Given the description of an element on the screen output the (x, y) to click on. 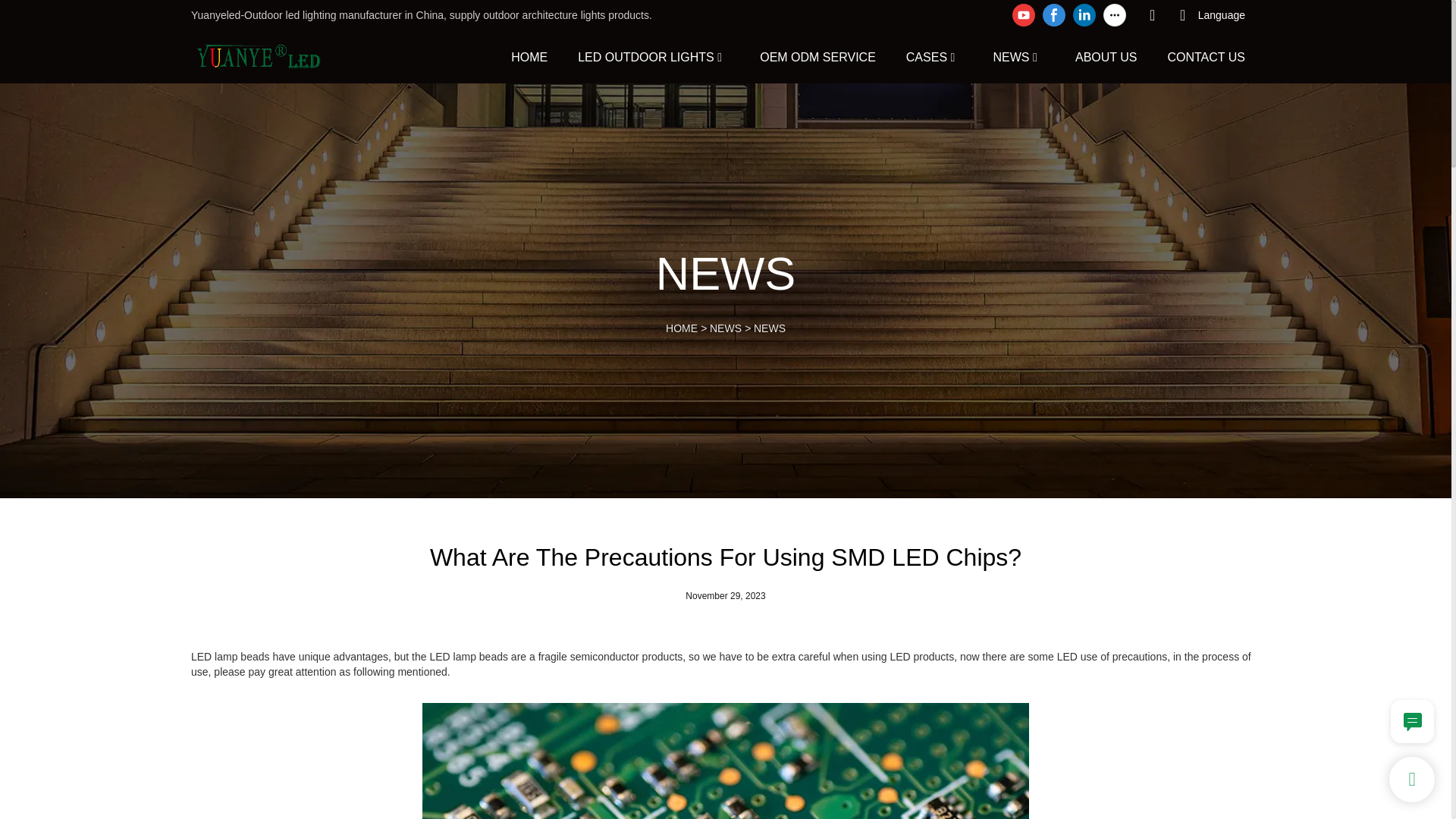
youtube (1024, 15)
CONTACT US (1205, 56)
HOME (529, 56)
NEWS (1010, 56)
LED OUTDOOR LIGHTS (646, 56)
OEM ODM SERVICE (818, 56)
facebook (1053, 15)
ABOUT US (1106, 56)
CASES (926, 56)
linkedin (1083, 15)
